Given the description of an element on the screen output the (x, y) to click on. 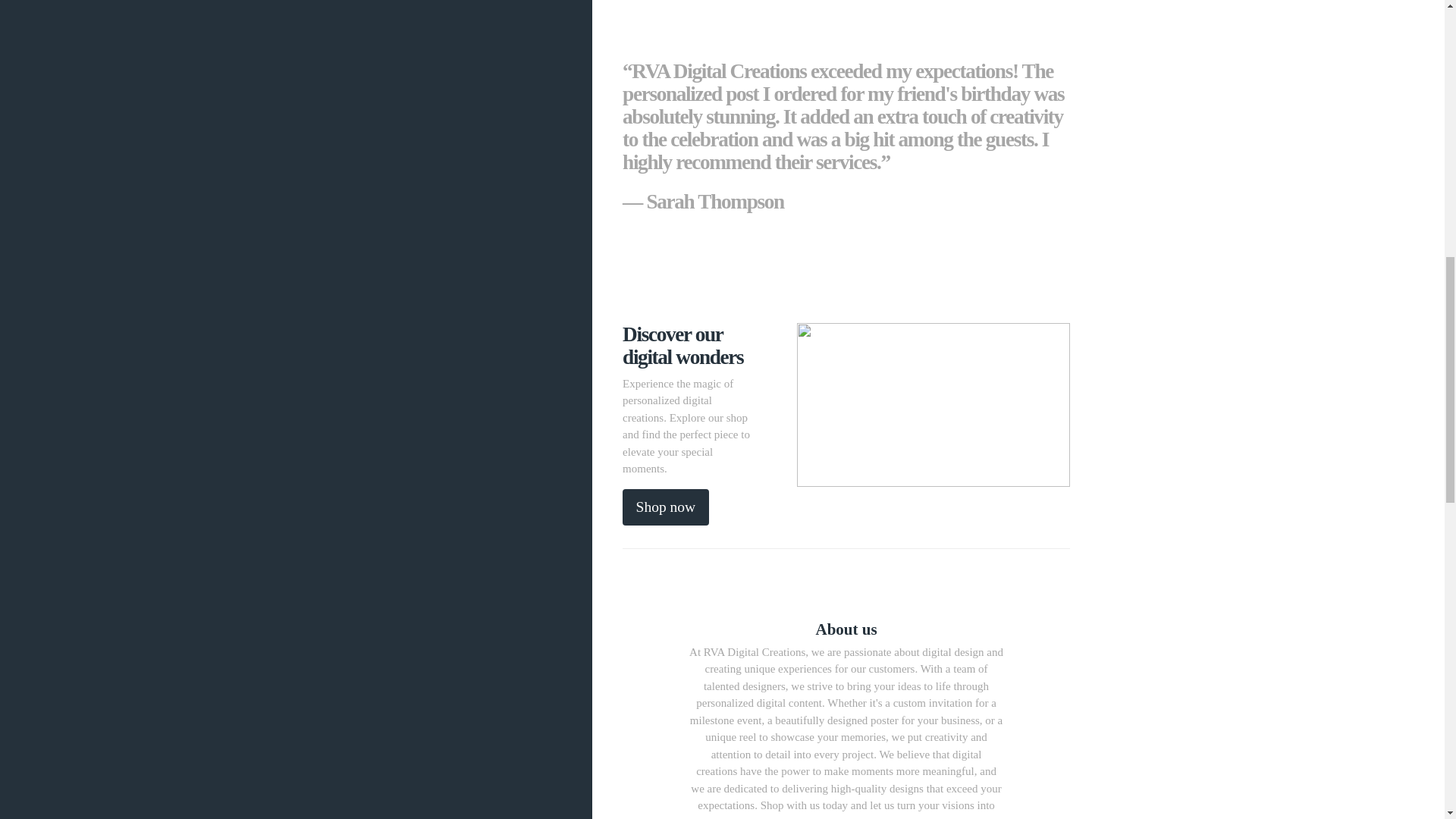
Shop now (666, 507)
